Given the description of an element on the screen output the (x, y) to click on. 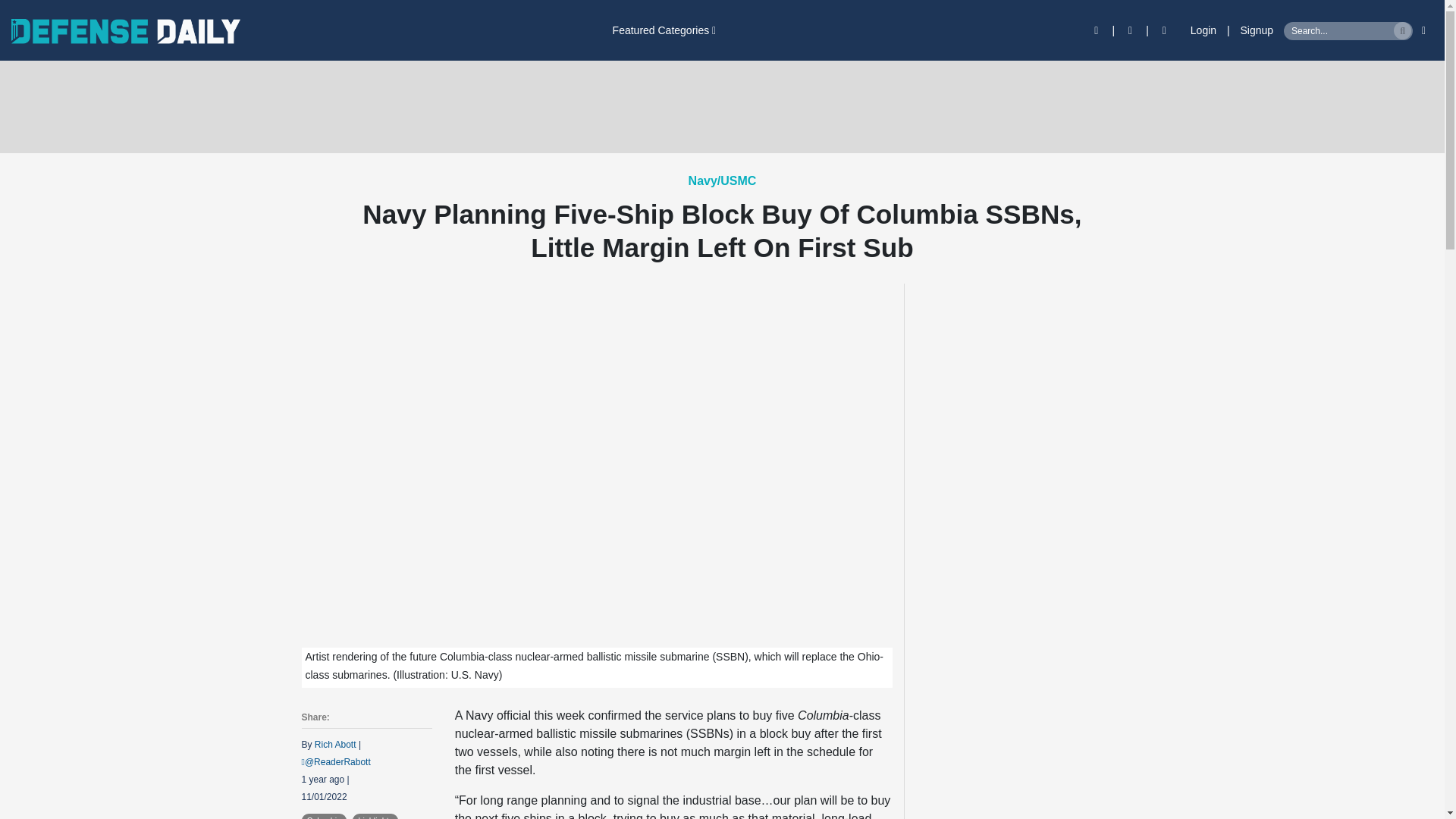
Rich Abott (335, 744)
highlights (374, 816)
Signup (1257, 30)
Columbia (324, 816)
